Given the description of an element on the screen output the (x, y) to click on. 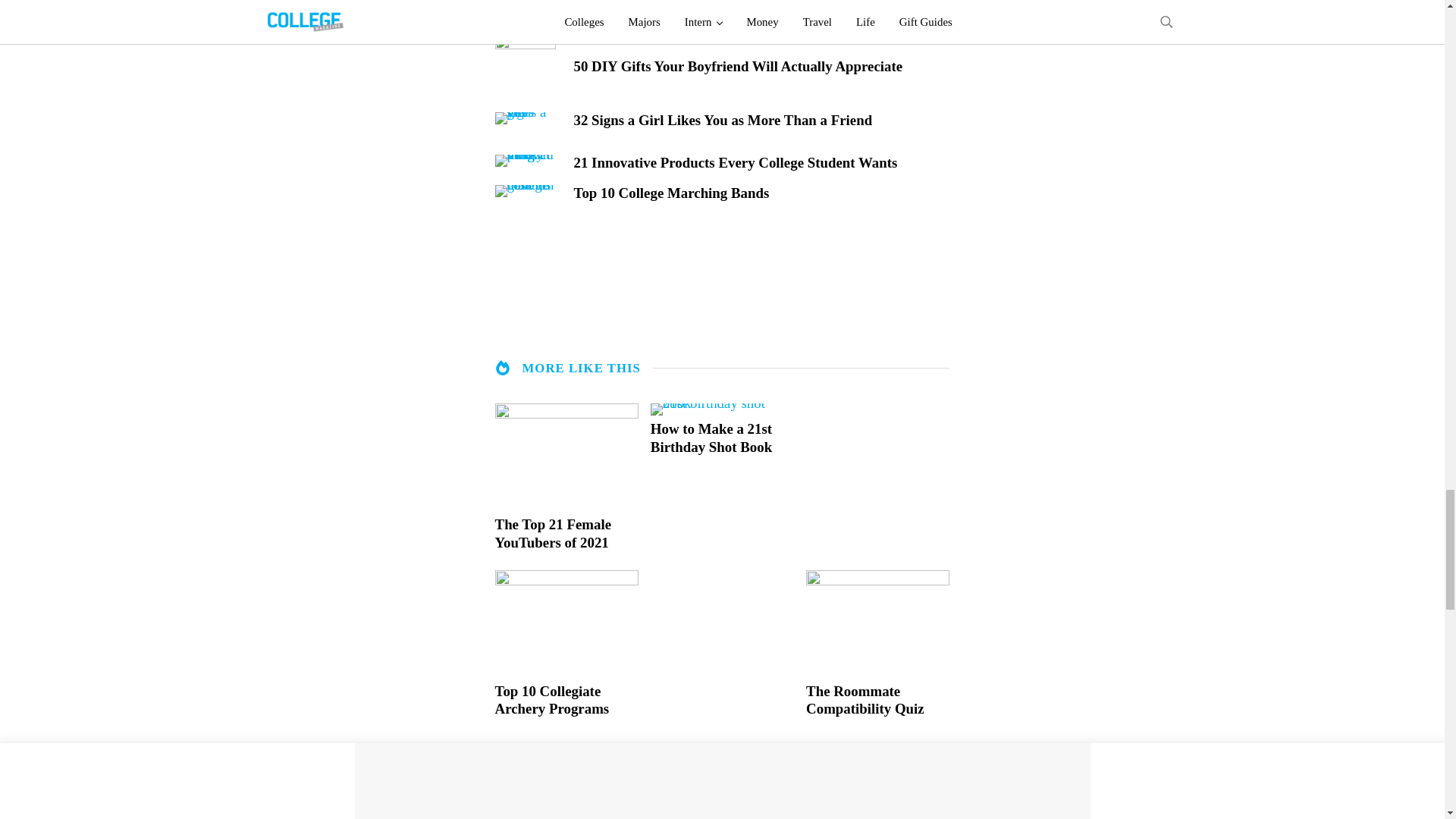
Top 10 Collegiate Archery Programs (567, 700)
How to Make a 21st Birthday Shot Book (721, 438)
The Roommate Compatibility Quiz (877, 700)
50 DIY Gifts Your Boyfriend Will Actually Appreciate (761, 66)
Top 10 College Marching Bands (761, 193)
32 Signs a Girl Likes You as More Than a Friend (761, 120)
The Top 21 Female YouTubers of 2021 (567, 533)
21 Innovative Products Every College Student Wants (761, 162)
